Given the description of an element on the screen output the (x, y) to click on. 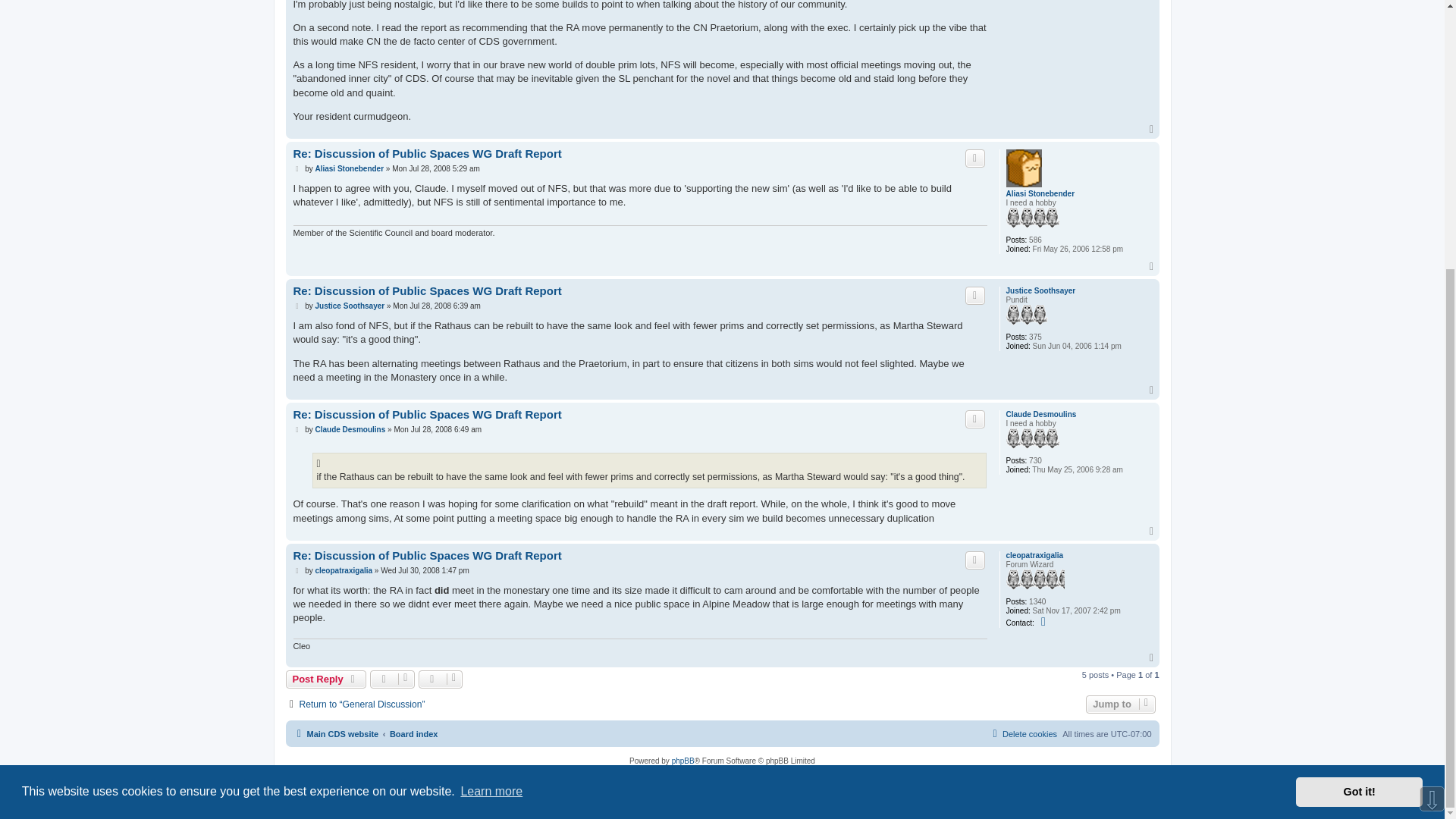
Top (1151, 129)
Re: Discussion of Public Spaces WG Draft Report (426, 154)
Post (297, 168)
Got it! (1358, 399)
Learn more (491, 398)
Quote (975, 158)
Post (297, 306)
Aliasi Stonebender (349, 168)
Re: Discussion of Public Spaces WG Draft Report (426, 291)
Aliasi Stonebender (1040, 194)
Top (1151, 266)
Justice Soothsayer (1040, 290)
Quote (975, 295)
